Given the description of an element on the screen output the (x, y) to click on. 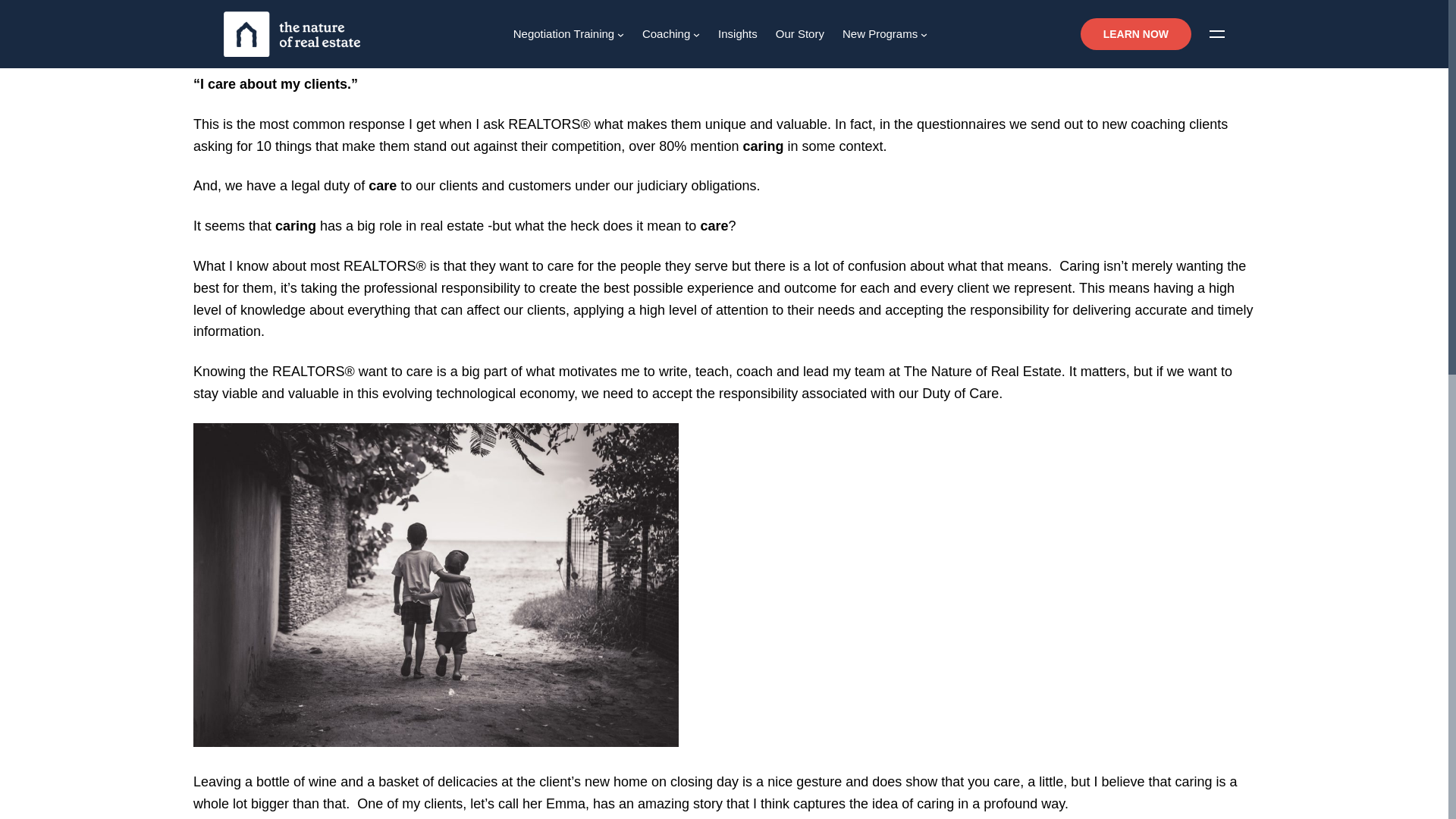
LEARN NOW (1135, 33)
Insights (737, 34)
Negotiation Training (563, 34)
New Programs (880, 34)
Coaching (666, 34)
Our Story (800, 34)
